Given the description of an element on the screen output the (x, y) to click on. 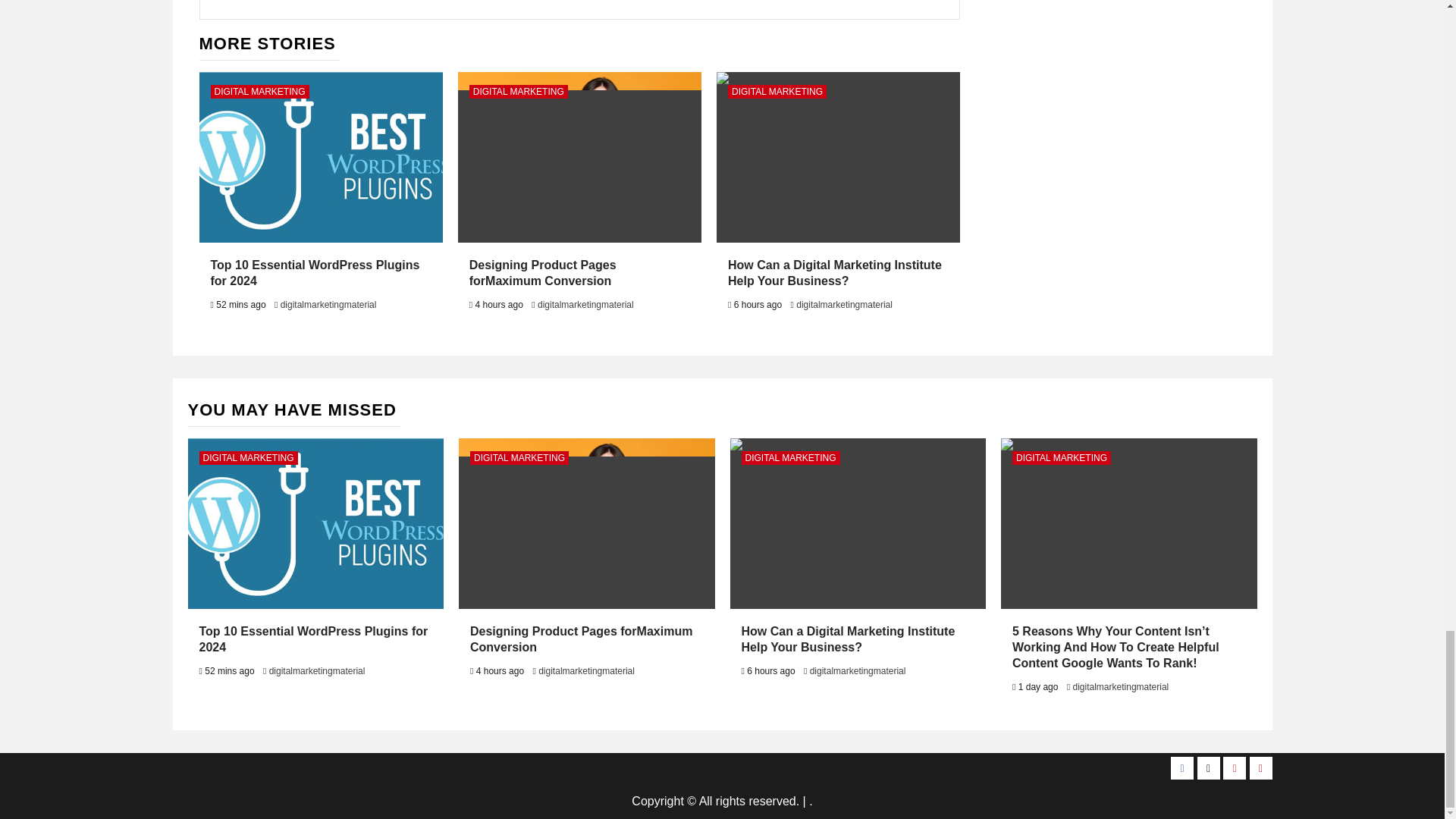
DIGITAL MARKETING (777, 91)
digitalmarketingmaterial (585, 304)
Designing Product Pages forMaximum Conversion (541, 272)
digitalmarketingmaterial (329, 304)
DIGITAL MARKETING (517, 91)
DIGITAL MARKETING (259, 91)
Top 10 Essential WordPress Plugins for 2024 (315, 272)
